Given the description of an element on the screen output the (x, y) to click on. 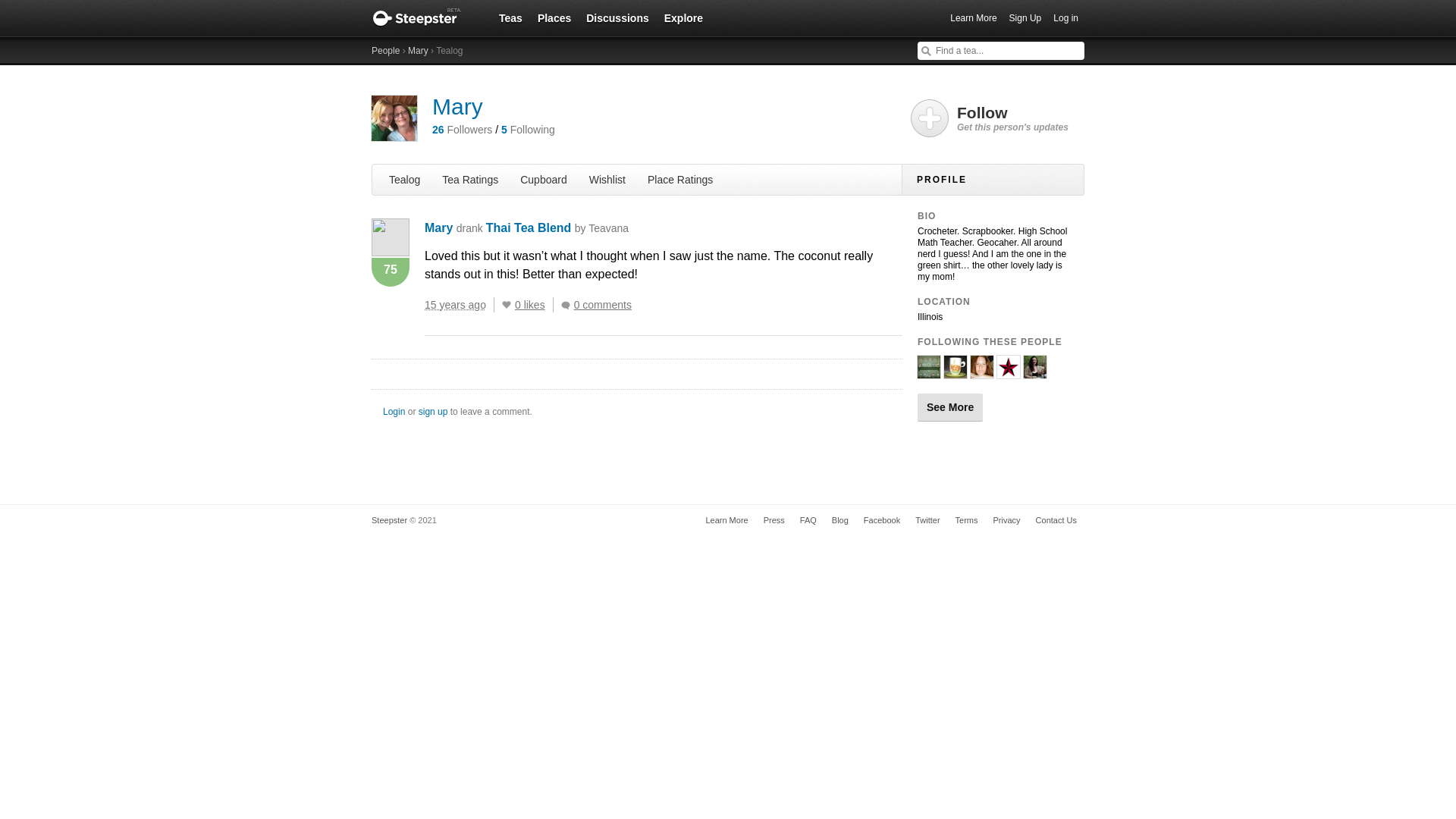
Log in (1065, 18)
0 comments (599, 304)
View chana's Tealog (954, 371)
Cupboard (543, 179)
5 Following (527, 129)
15 years ago (460, 304)
Link to Privacy Policy (1006, 519)
Like This (506, 304)
Steepster (424, 18)
I Like This (506, 304)
